Given the description of an element on the screen output the (x, y) to click on. 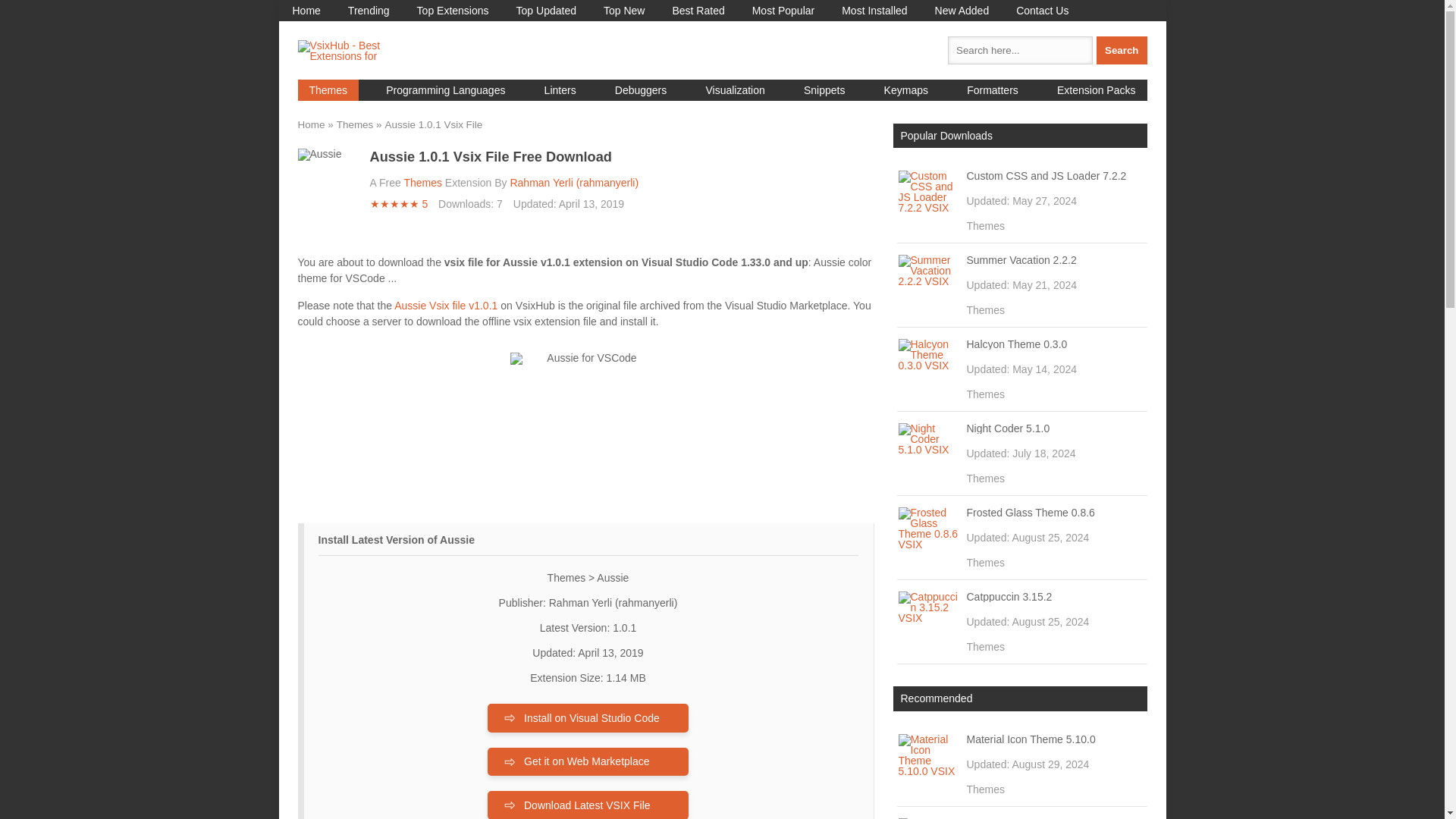
Search (1121, 50)
Top Extensions (452, 10)
Best Rated (698, 10)
Themes (327, 89)
Themes (422, 182)
Contact Us (1042, 10)
Formatters (992, 89)
Trending (368, 10)
Home (306, 10)
Top Extensions (452, 10)
